Given the description of an element on the screen output the (x, y) to click on. 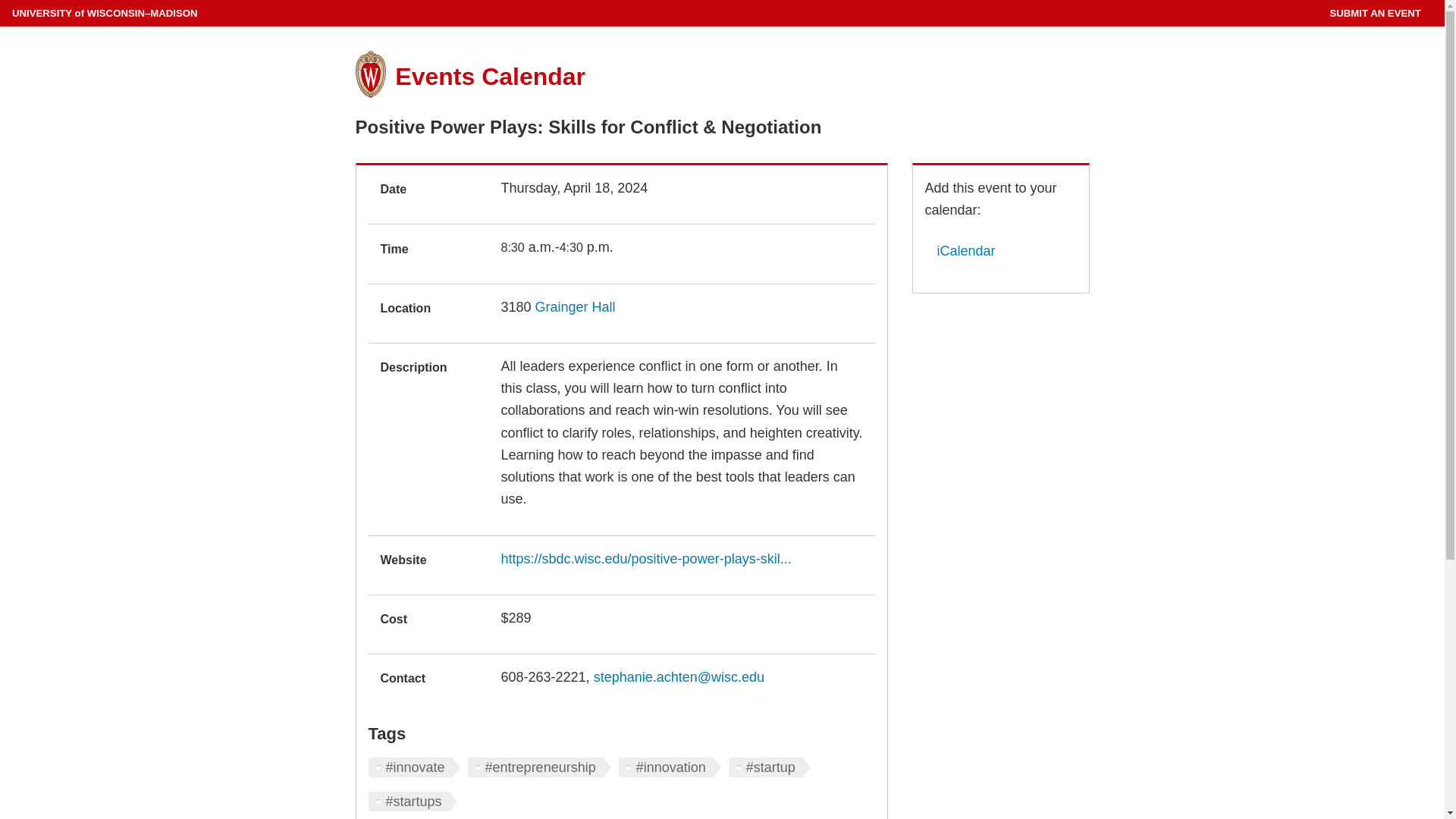
Grainger Hall (575, 306)
Skip to main content (3, 3)
608-263-2221 (542, 676)
iCalendar (959, 250)
SUBMIT AN EVENT (1375, 13)
Events Calendar (489, 76)
